Given the description of an element on the screen output the (x, y) to click on. 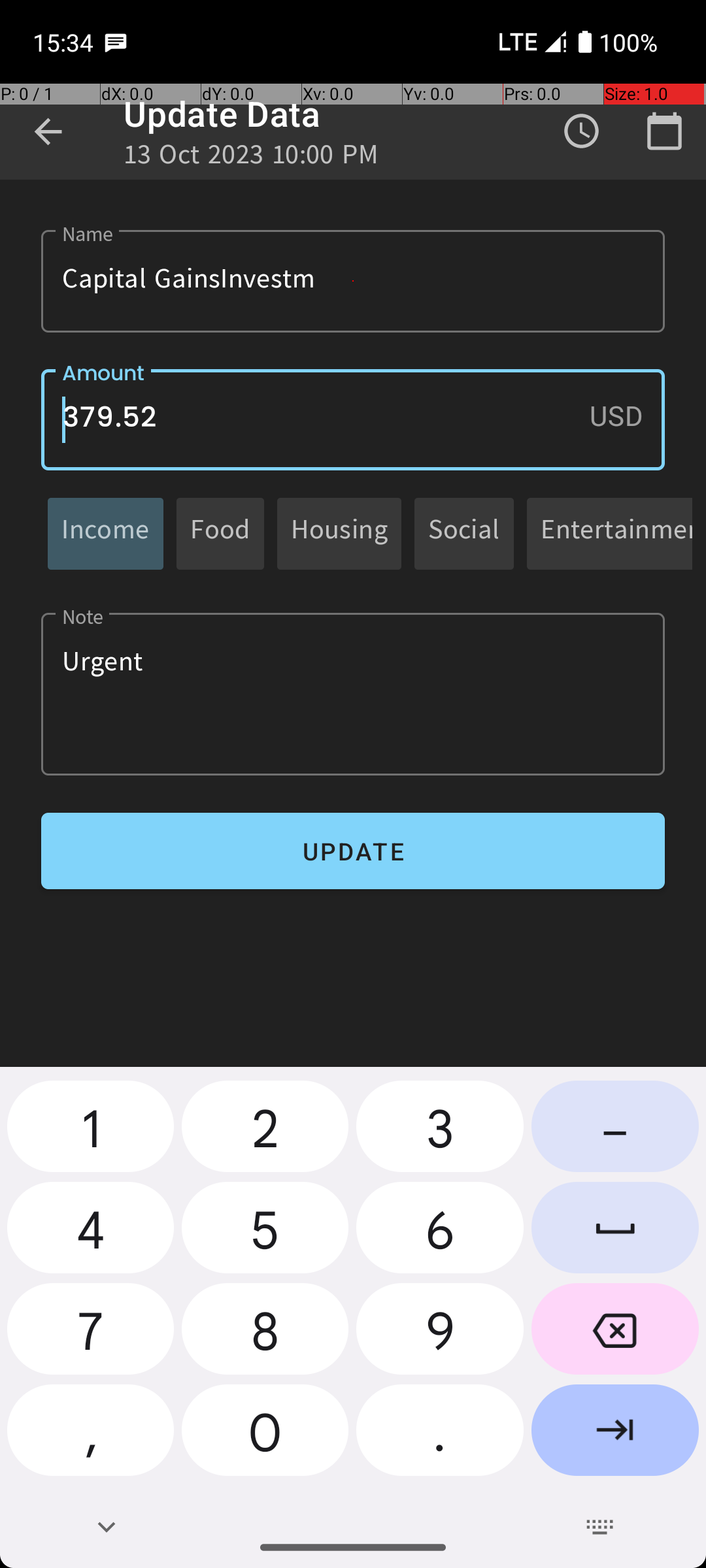
13 Oct 2023 10:00 PM Element type: android.widget.TextView (250, 157)
Capital GainsInvestm Element type: android.widget.EditText (352, 280)
379.52 Element type: android.widget.EditText (352, 419)
